Given the description of an element on the screen output the (x, y) to click on. 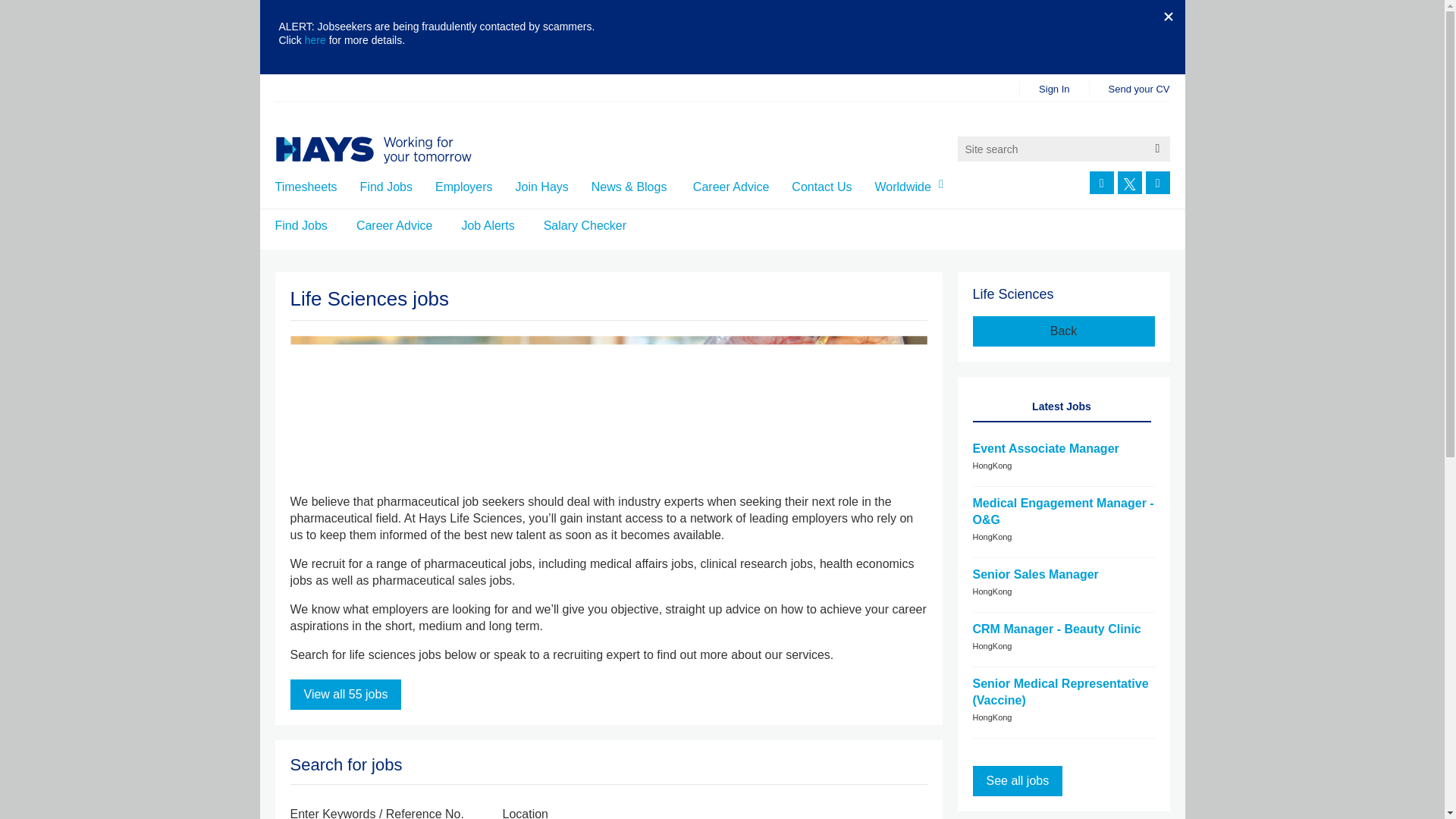
Contact Us (821, 186)
Career Advice (731, 186)
Go to Hays Hongkong (392, 149)
Join Hays (542, 186)
here (316, 39)
Sign In (1053, 89)
Timesheets (305, 186)
Worldwide (912, 186)
Find Jobs (385, 186)
Employers (464, 186)
